Given the description of an element on the screen output the (x, y) to click on. 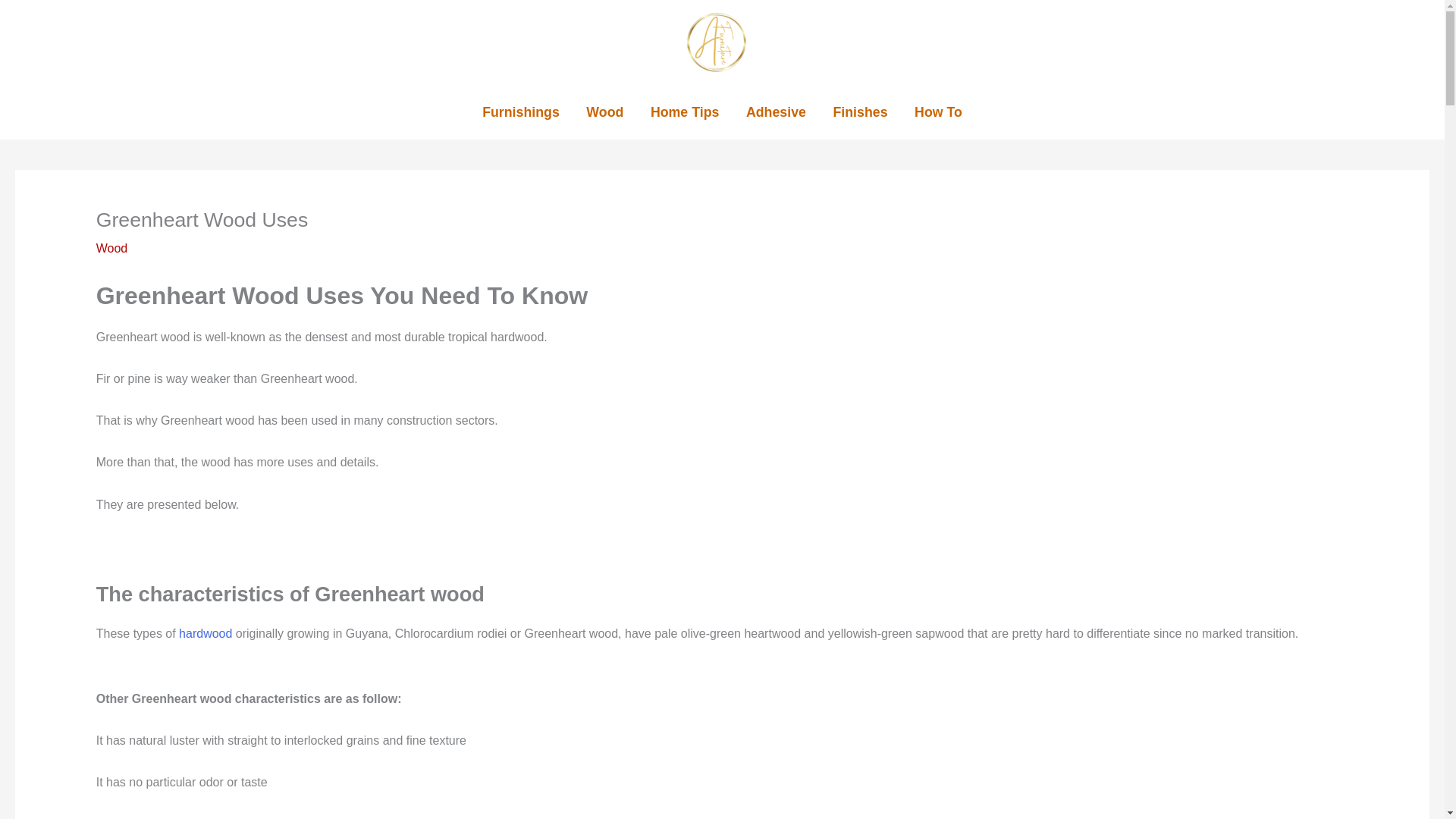
Furnishings (520, 112)
Adhesive (775, 112)
Home Tips (684, 112)
hardwood (205, 633)
How To (938, 112)
Finishes (860, 112)
Wood (112, 247)
Wood (605, 112)
